Given the description of an element on the screen output the (x, y) to click on. 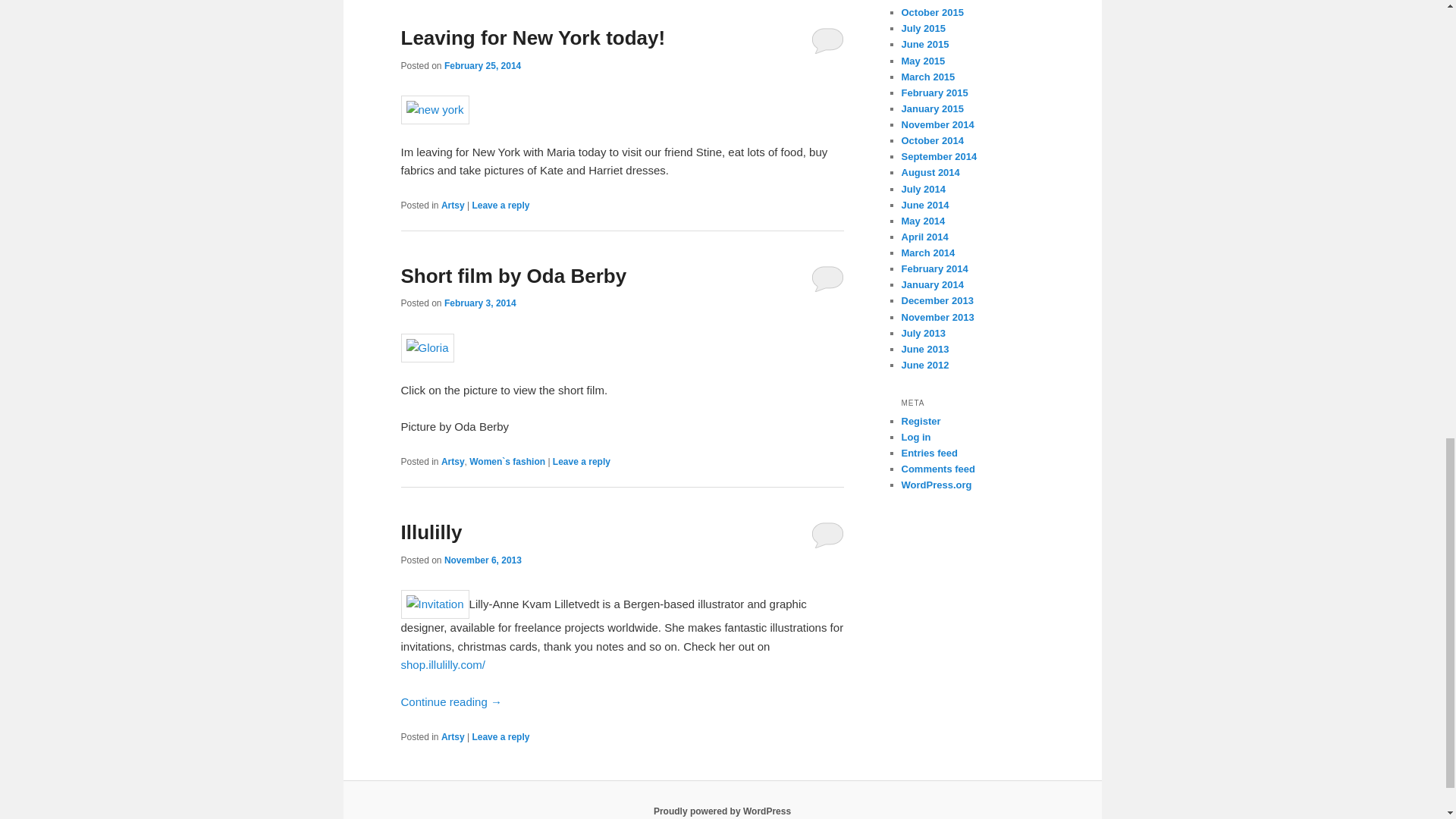
February 3, 2014 (480, 303)
Illulilly (430, 531)
Short film by Oda Berby (513, 275)
Leaving for New York today! (532, 37)
November 6, 2013 (482, 560)
06:00 (482, 65)
Semantic Personal Publishing Platform (721, 810)
Artsy (452, 204)
Artsy (452, 461)
17:17 (480, 303)
